Given the description of an element on the screen output the (x, y) to click on. 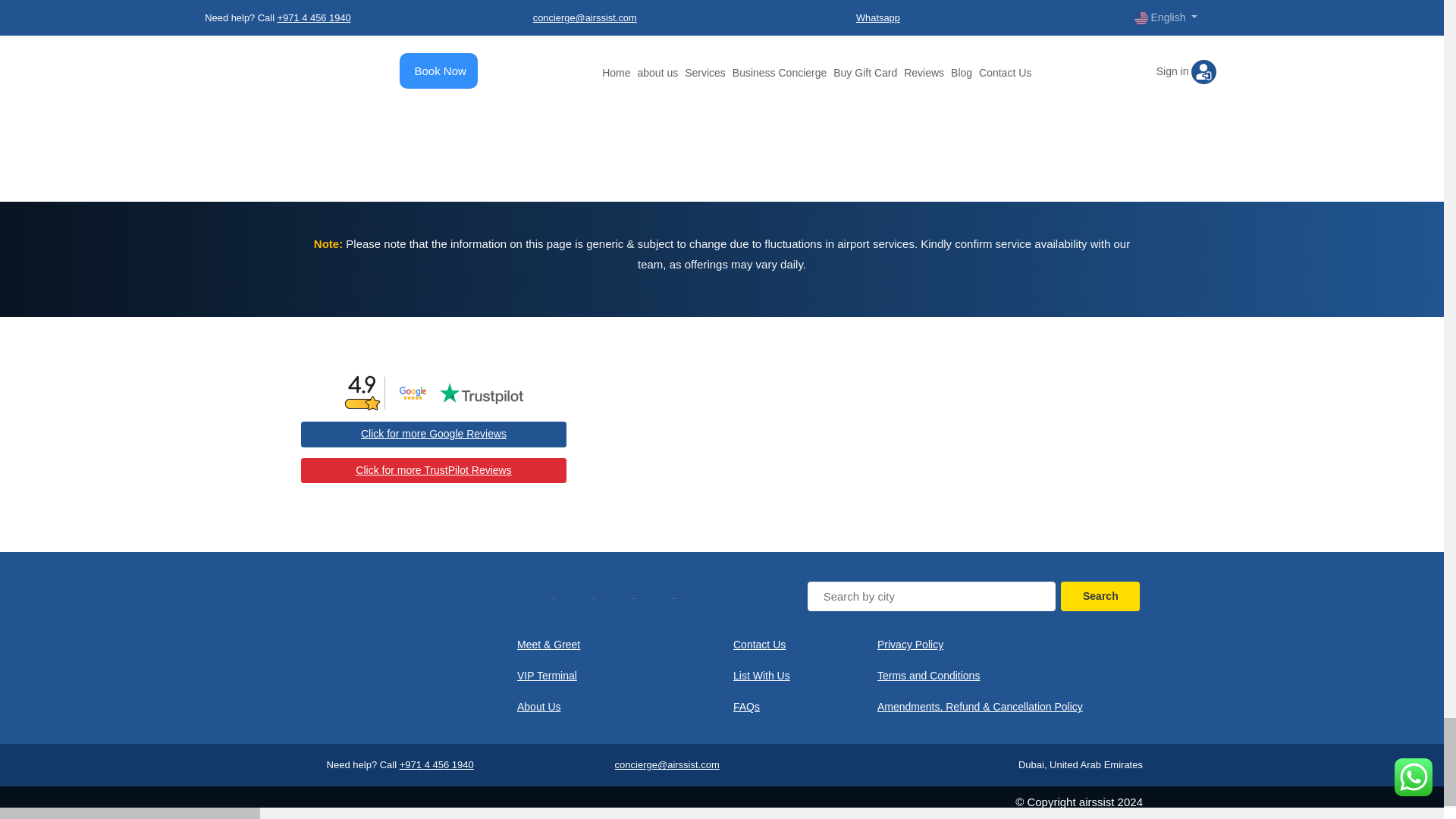
Heathrow lounges (937, 58)
Search (1100, 595)
